Given the description of an element on the screen output the (x, y) to click on. 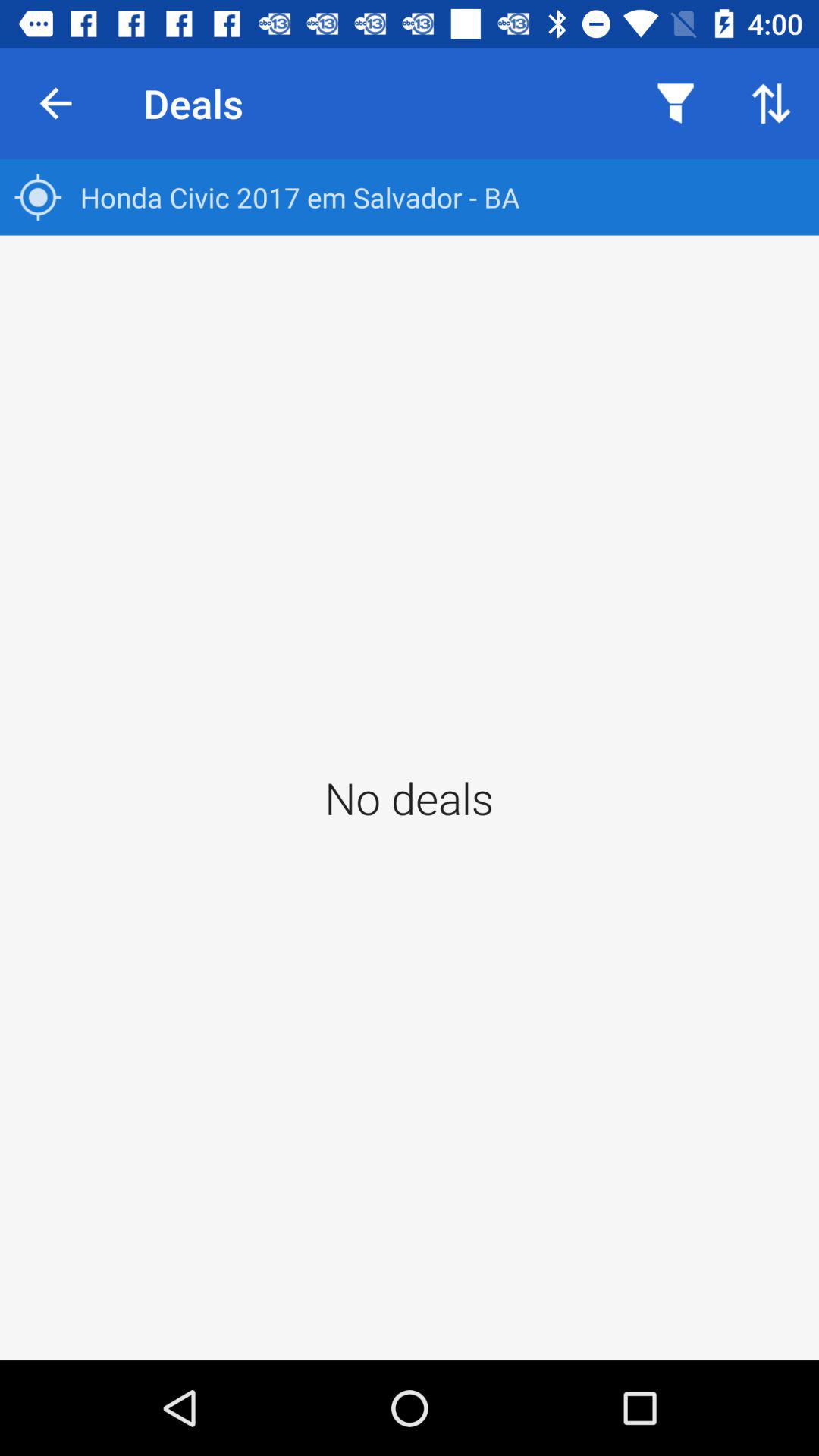
open item next to the deals (675, 103)
